Given the description of an element on the screen output the (x, y) to click on. 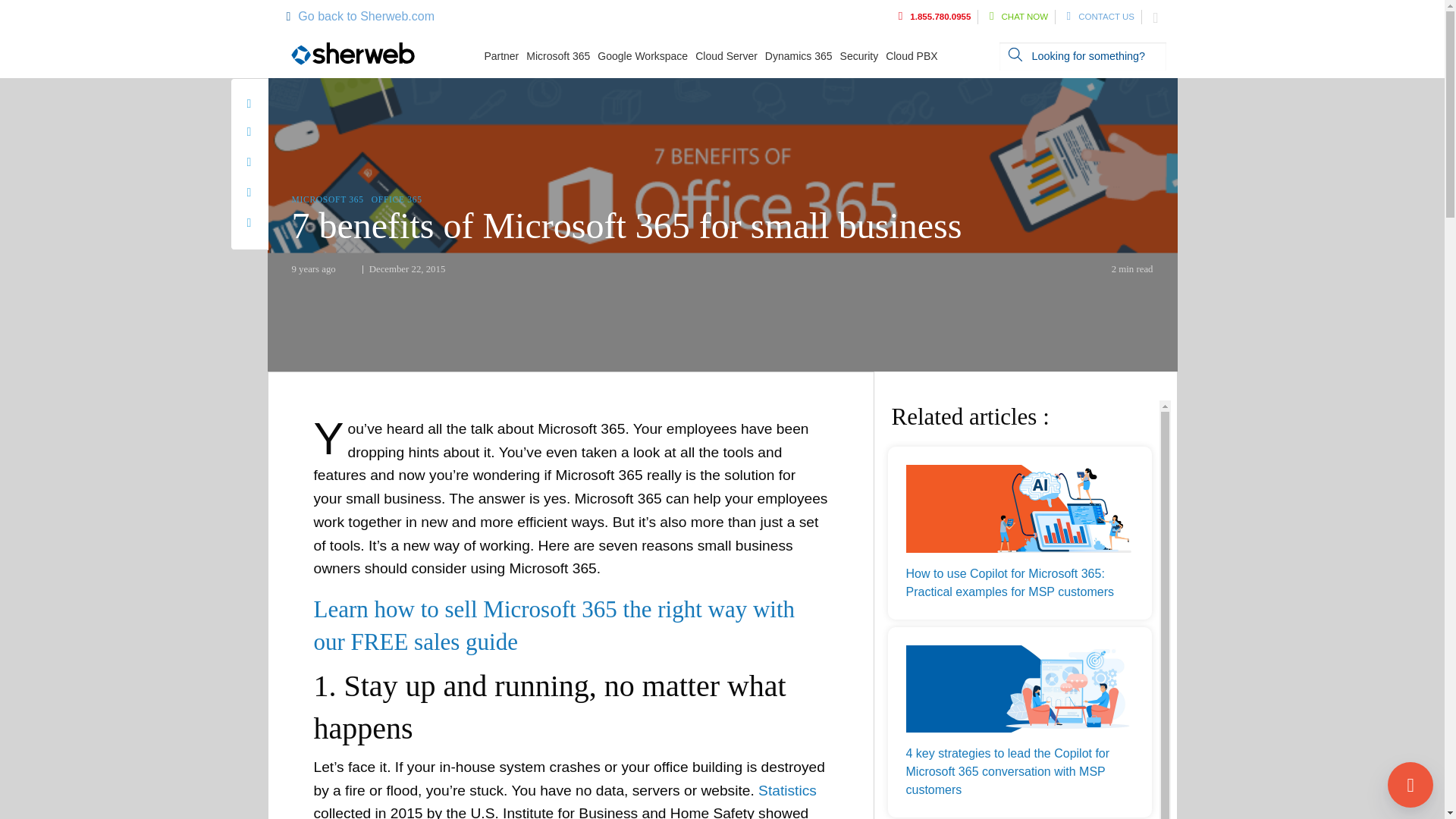
CONTACT US (1100, 16)
MICROSOFT 365 (326, 198)
Go back to Sherweb.com (359, 16)
Statistics (787, 790)
Partner (504, 55)
Search (1014, 54)
CHAT NOW (1019, 16)
Dynamics 365 (802, 55)
OFFICE 365 (396, 198)
